Given the description of an element on the screen output the (x, y) to click on. 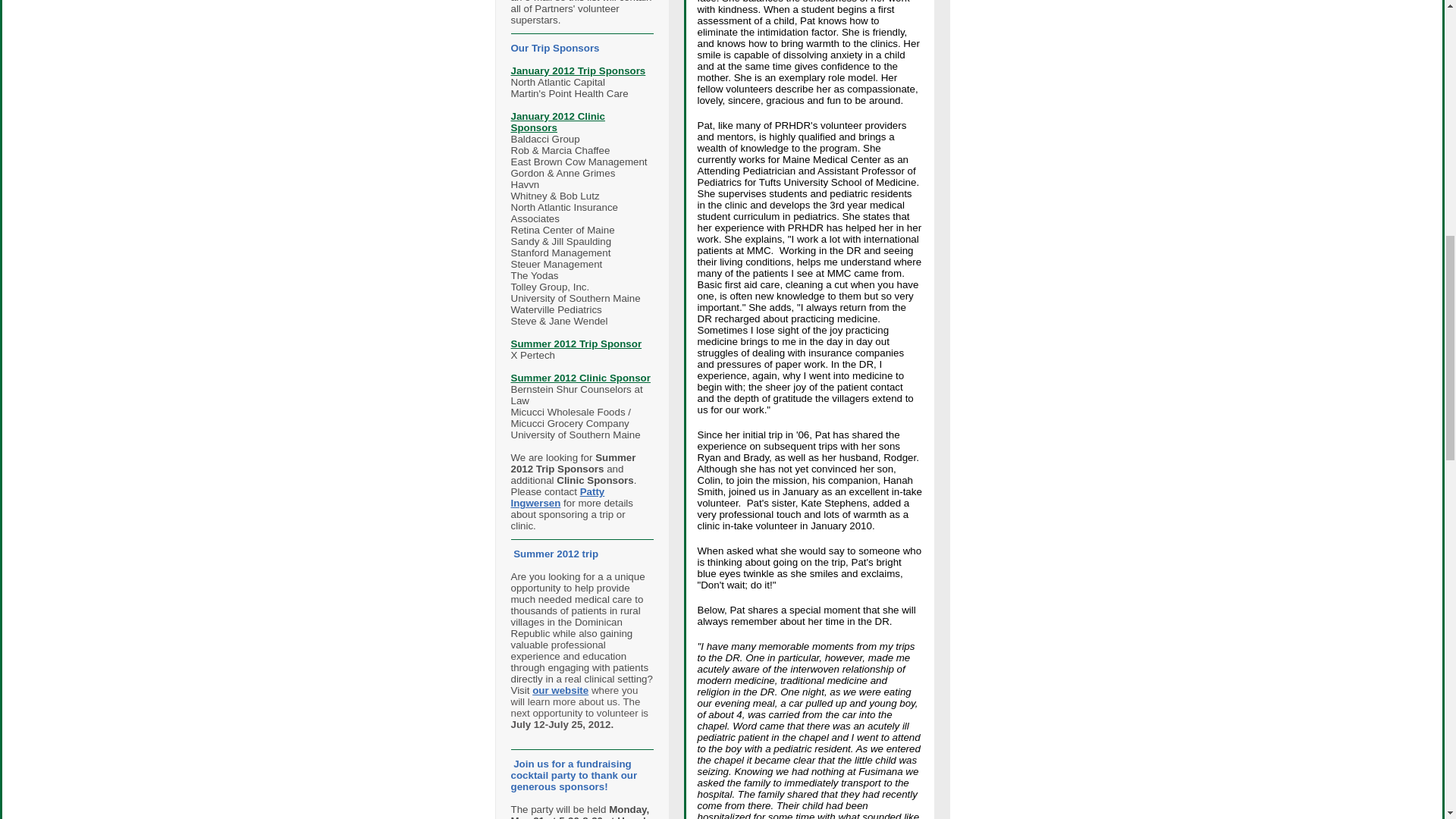
Patty Ingwersen (558, 497)
our website (560, 690)
